Given the description of an element on the screen output the (x, y) to click on. 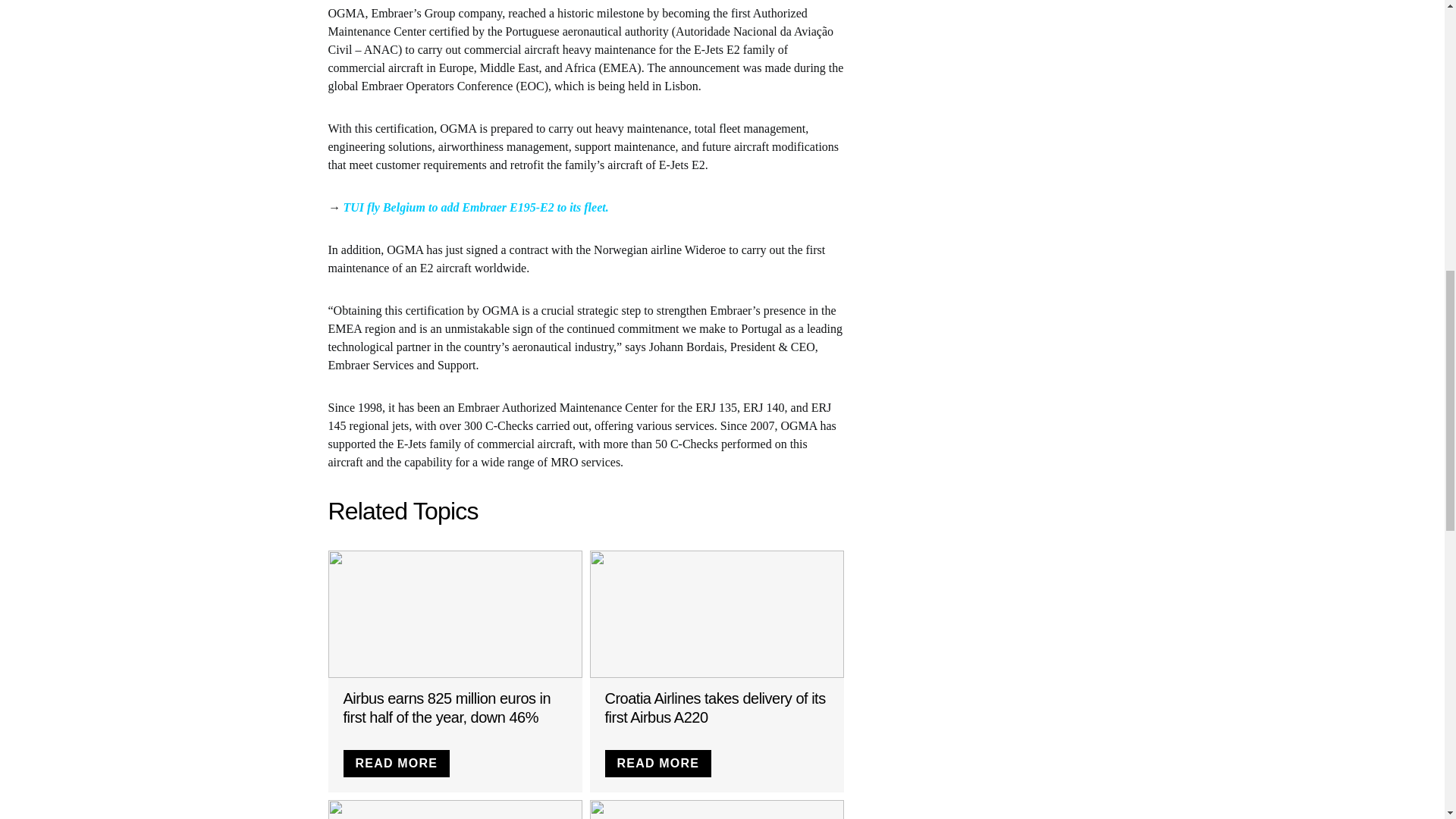
READ MORE (658, 762)
Croatia Airlines takes delivery of its first Airbus A220 (715, 707)
TUI fly Belgium to add Embraer E195-E2 to its fleet. (475, 206)
READ MORE (395, 762)
